Given the description of an element on the screen output the (x, y) to click on. 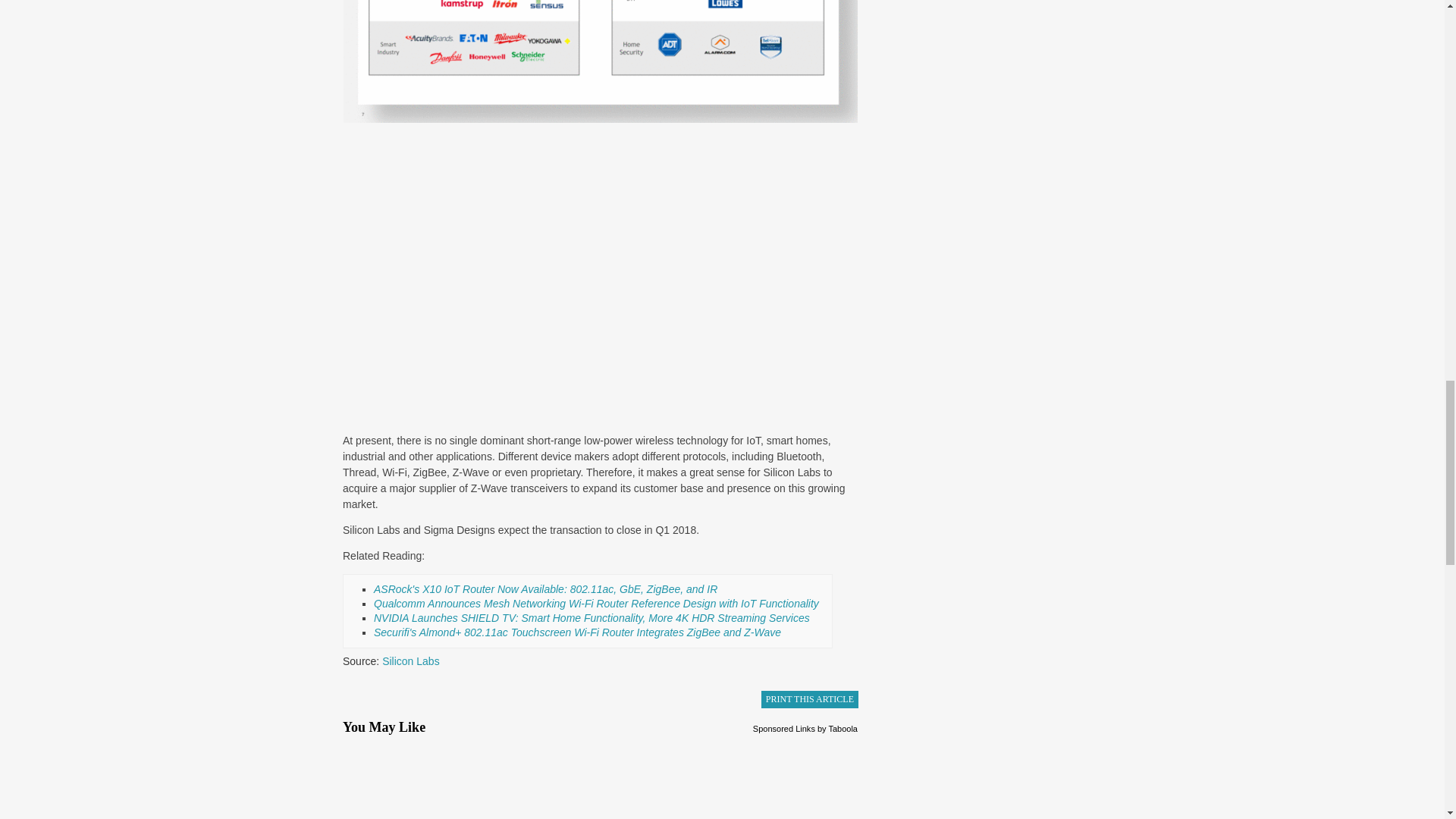
Play War Thunder now for free (776, 780)
If you own a mouse, play it for 1 minute. (424, 780)
